Given the description of an element on the screen output the (x, y) to click on. 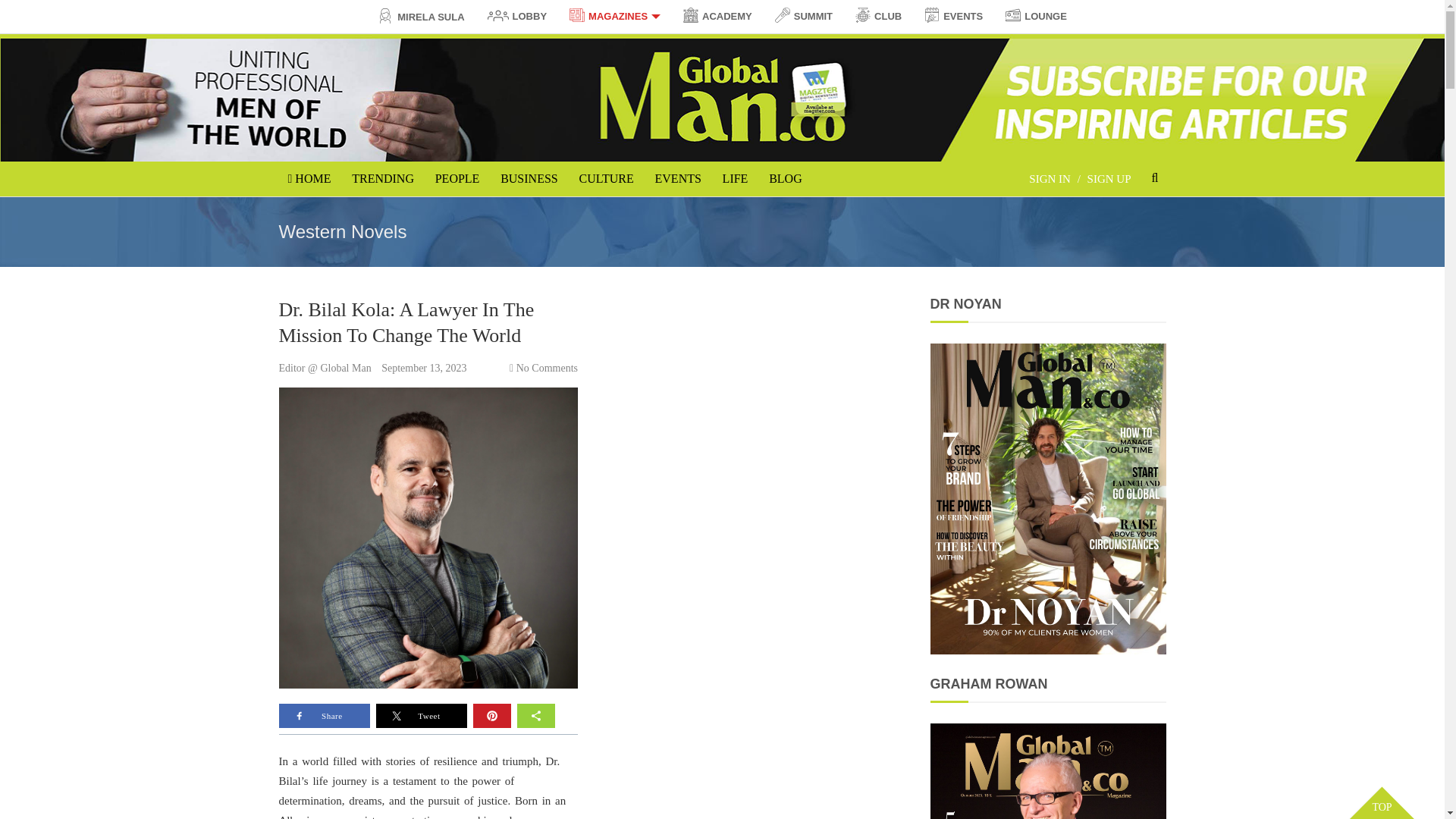
LOBBY (517, 16)
PEOPLE (457, 178)
CULTURE (605, 178)
EVENTS (678, 178)
Dr. Bilal Kola: A Lawyer In The Mission To Change The World (406, 322)
3:16 pm (423, 367)
Dr. Bilal Kola: A Lawyer In The Mission To Change The World (406, 322)
SIGN IN (1049, 177)
TRENDING (382, 178)
HOME (309, 178)
SUMMIT (803, 15)
No Comments (547, 367)
MIRELA SULA (421, 16)
MAGAZINES (614, 15)
SIGN UP (1109, 177)
